Given the description of an element on the screen output the (x, y) to click on. 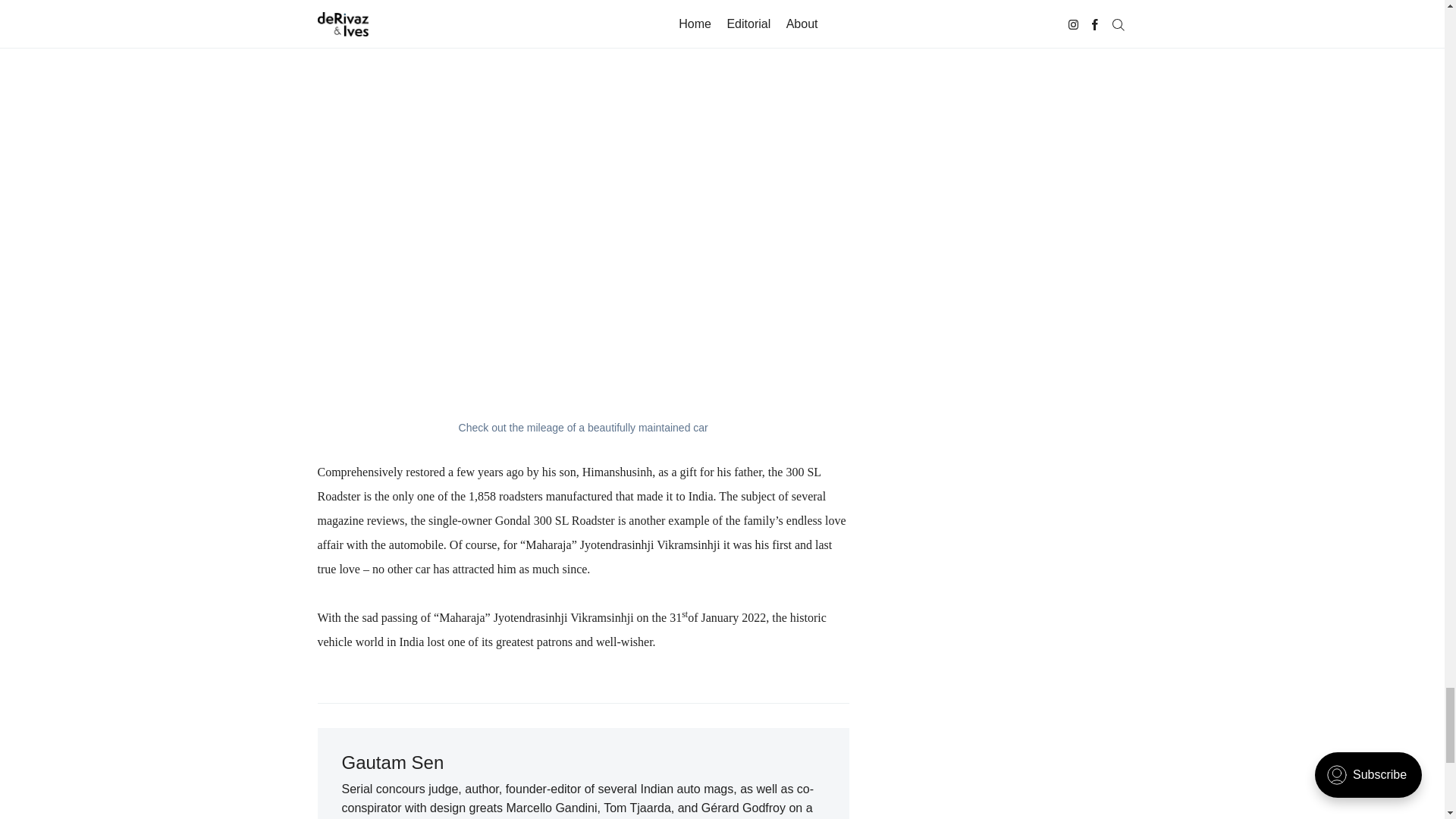
Gautam Sen (392, 762)
